Given the description of an element on the screen output the (x, y) to click on. 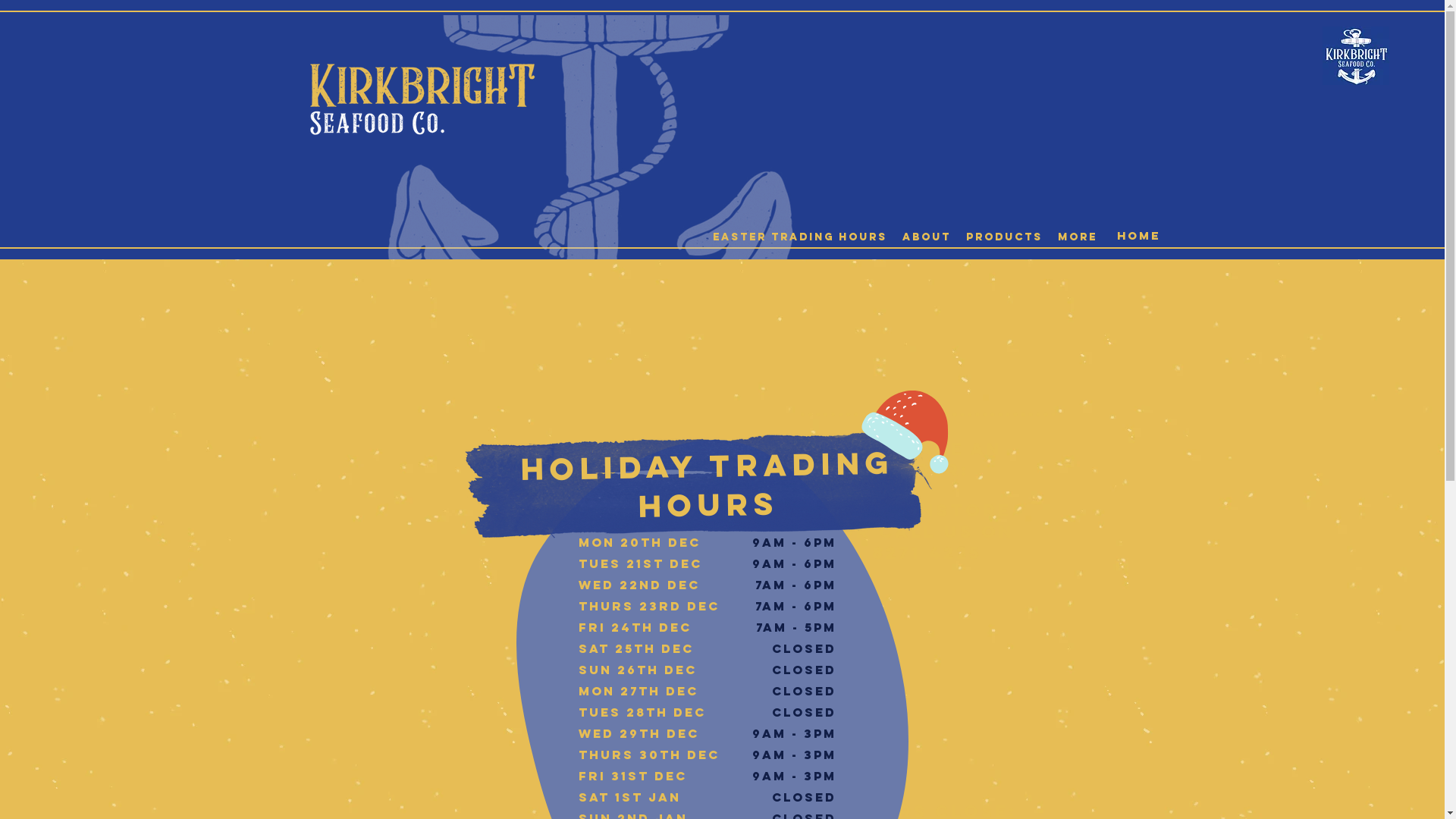
About Element type: text (926, 236)
Easter Trading Hours Element type: text (799, 236)
Products Element type: text (1004, 236)
headerbg5.png Element type: hover (686, 494)
